Given the description of an element on the screen output the (x, y) to click on. 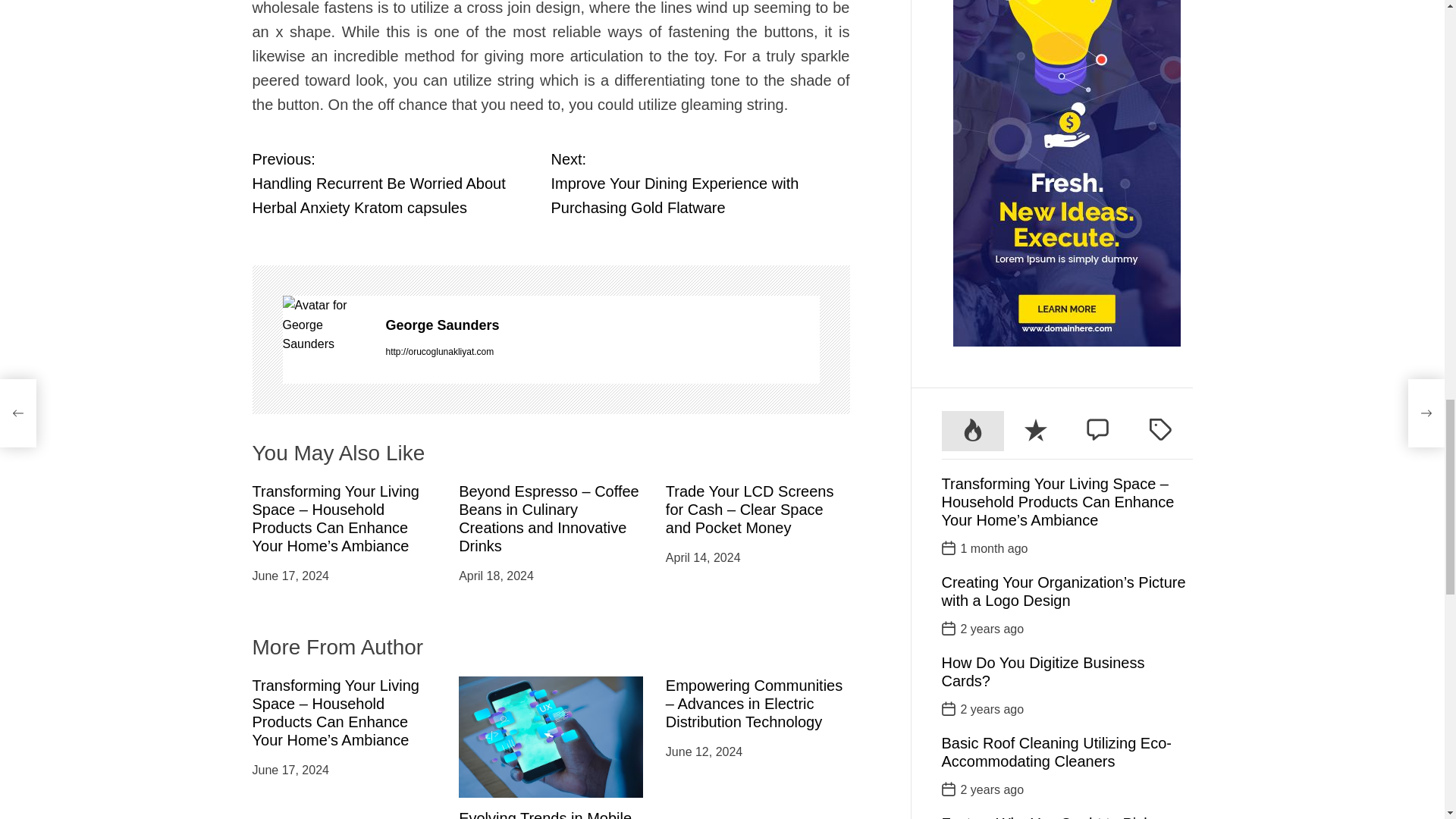
George Saunders (325, 324)
Evolving Trends in Mobile Banking Apps: A Look into 2024 (545, 814)
George Saunders (601, 325)
George Saunders (601, 325)
